Given the description of an element on the screen output the (x, y) to click on. 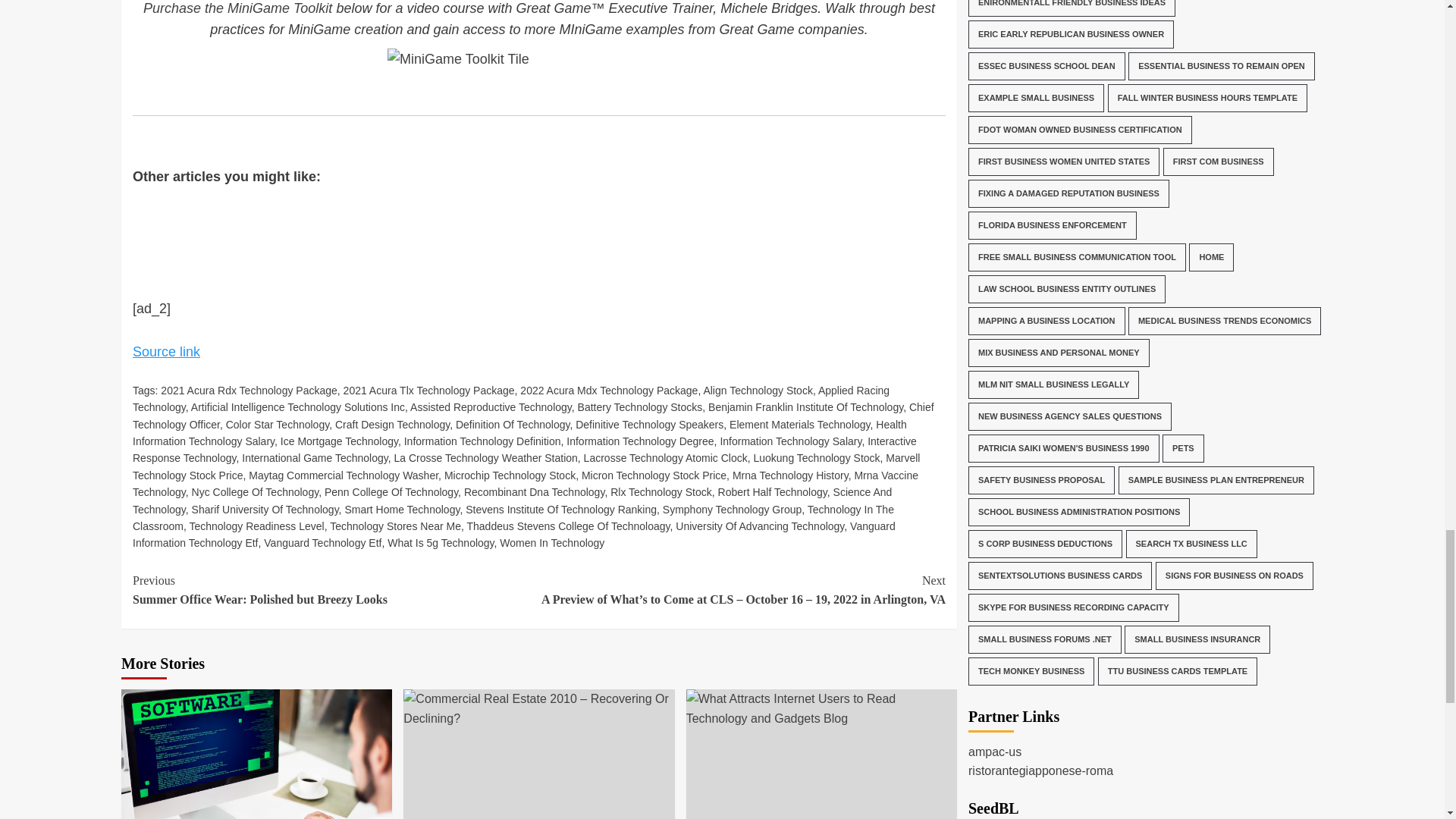
Purchase the MiniGame Toolkit (236, 7)
Source link (166, 351)
2021 Acura Rdx Technology Package (248, 390)
Computer Forensics Software (255, 754)
